Given the description of an element on the screen output the (x, y) to click on. 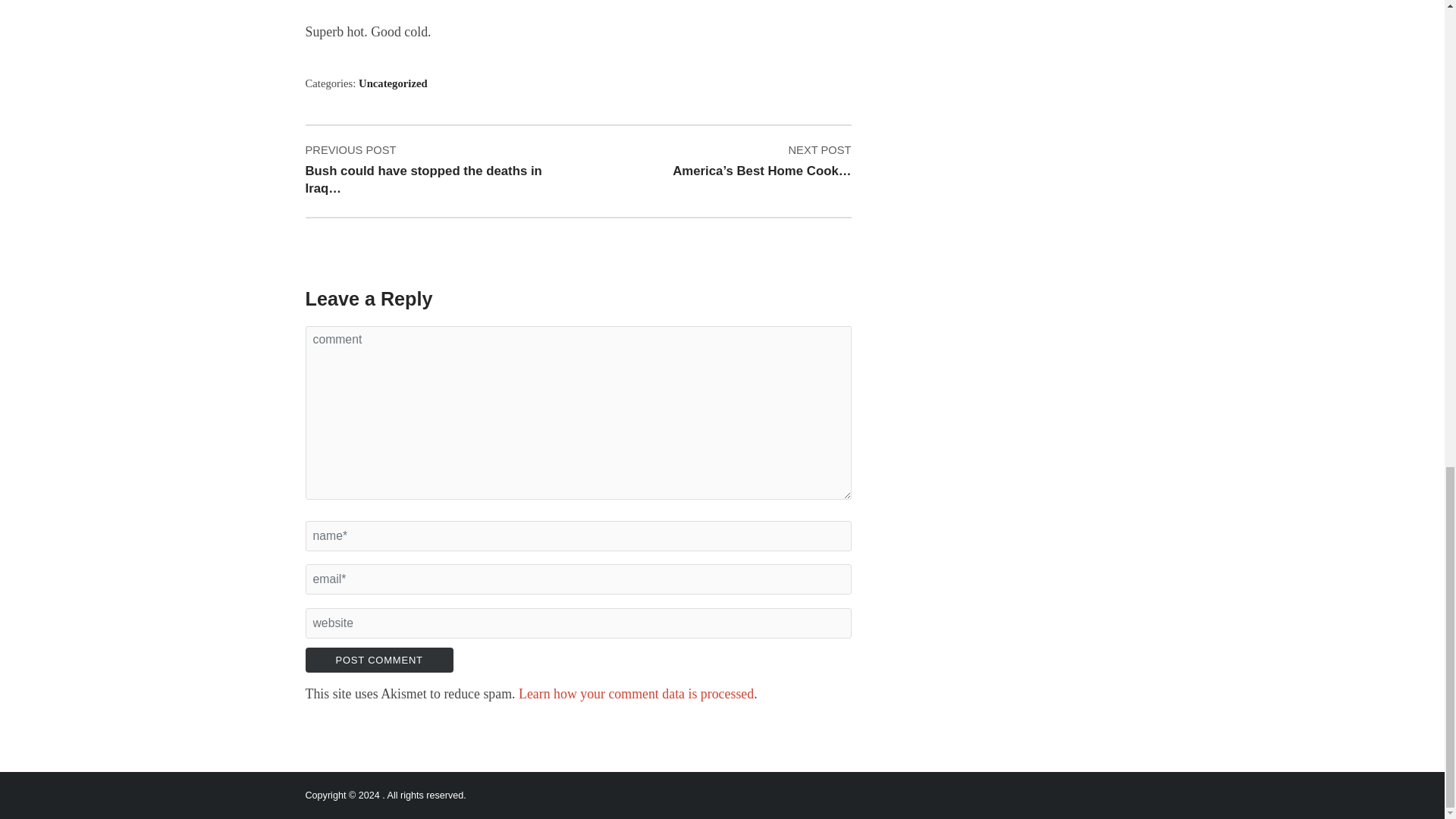
Uncategorized (393, 82)
Post Comment (378, 659)
Post Comment (378, 659)
Learn how your comment data is processed (636, 693)
